Given the description of an element on the screen output the (x, y) to click on. 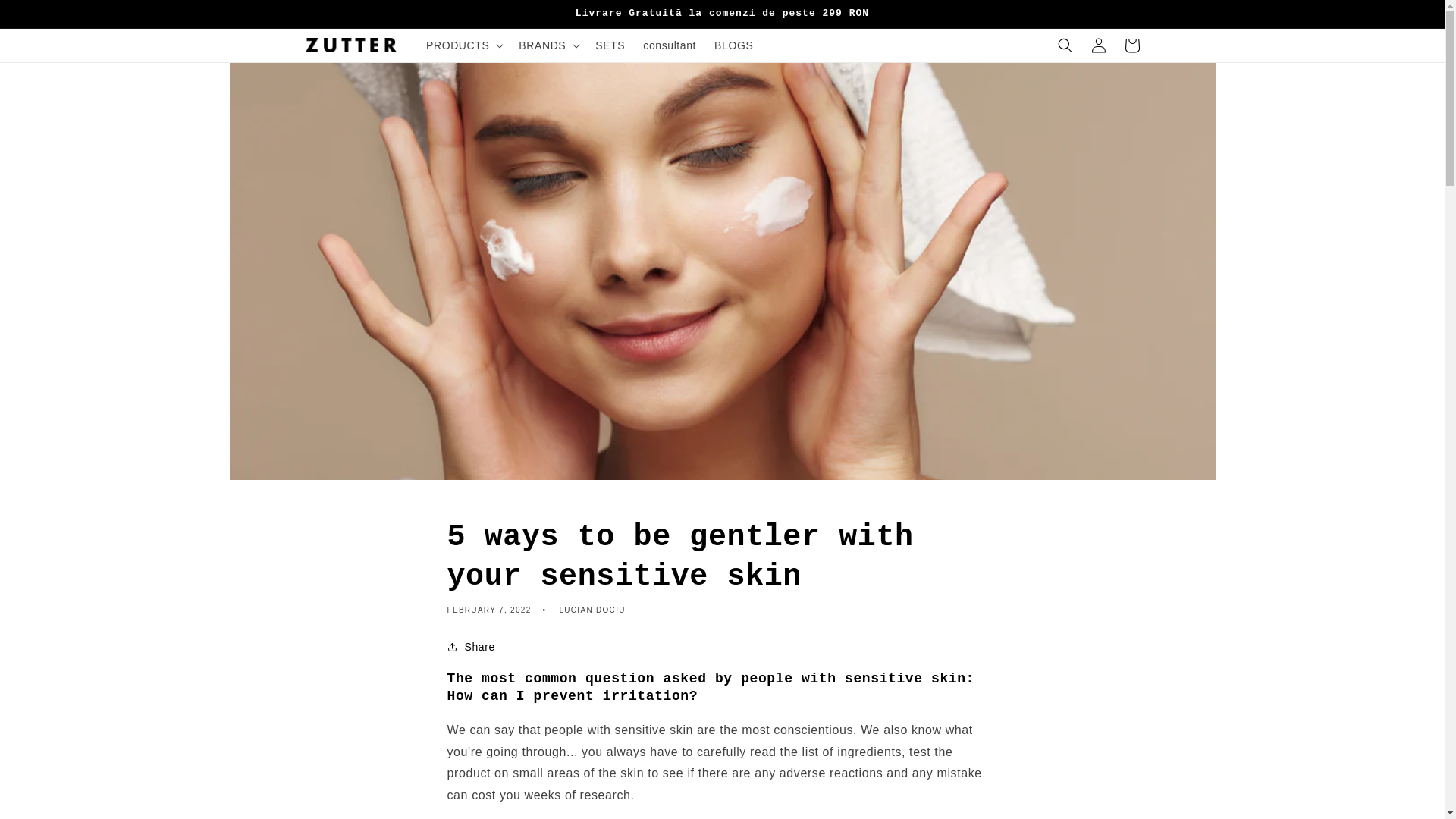
Skip to content (46, 18)
